Given the description of an element on the screen output the (x, y) to click on. 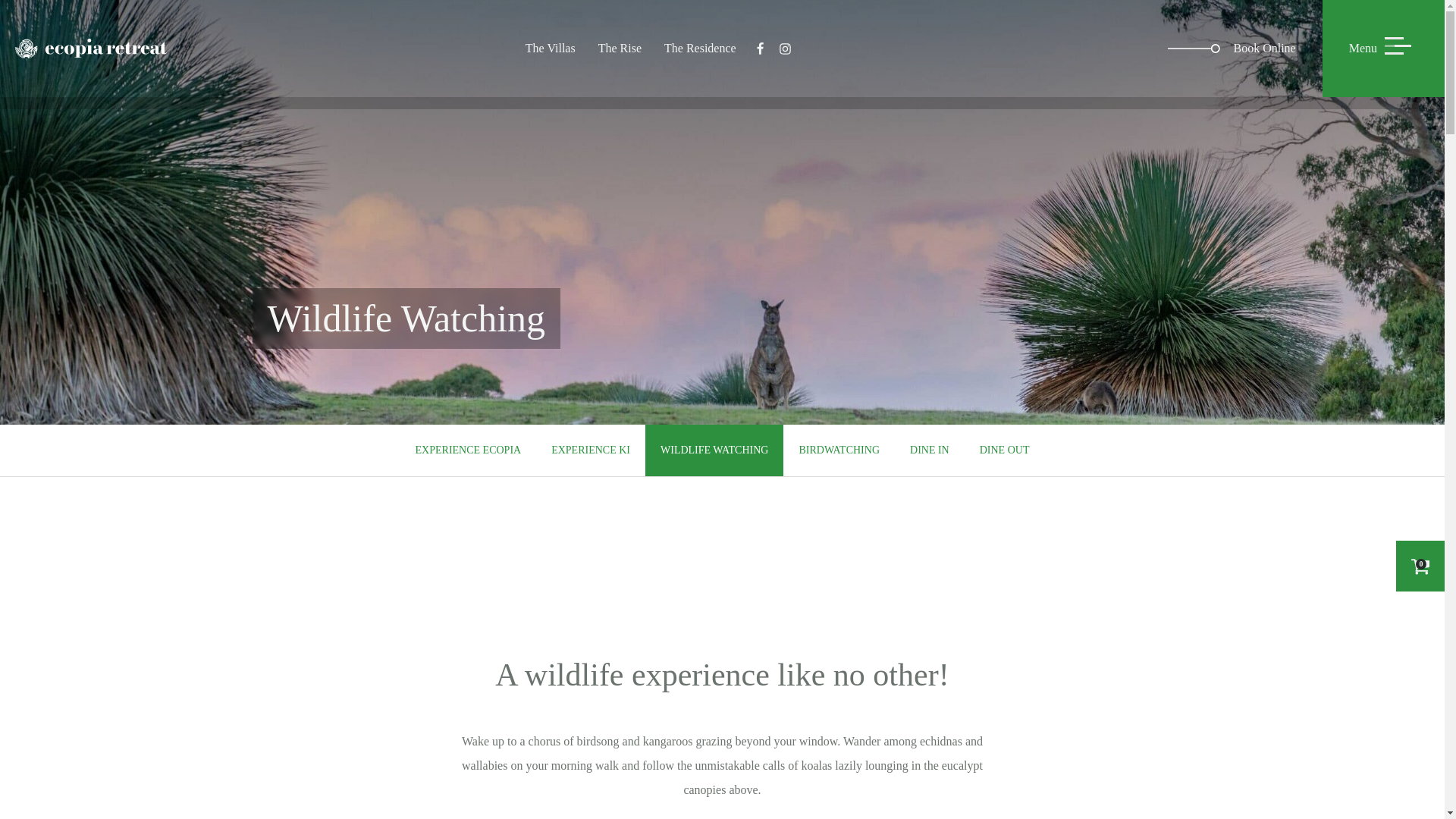
DINE OUT (1004, 450)
DINE IN (929, 450)
The Rise (619, 47)
Menu (1383, 48)
The Residence (700, 47)
The Villas (549, 47)
Book Online (1244, 48)
WILDLIFE WATCHING (714, 450)
EXPERIENCE ECOPIA (468, 450)
EXPERIENCE KI (590, 450)
BIRDWATCHING (839, 450)
0 (1420, 565)
